Given the description of an element on the screen output the (x, y) to click on. 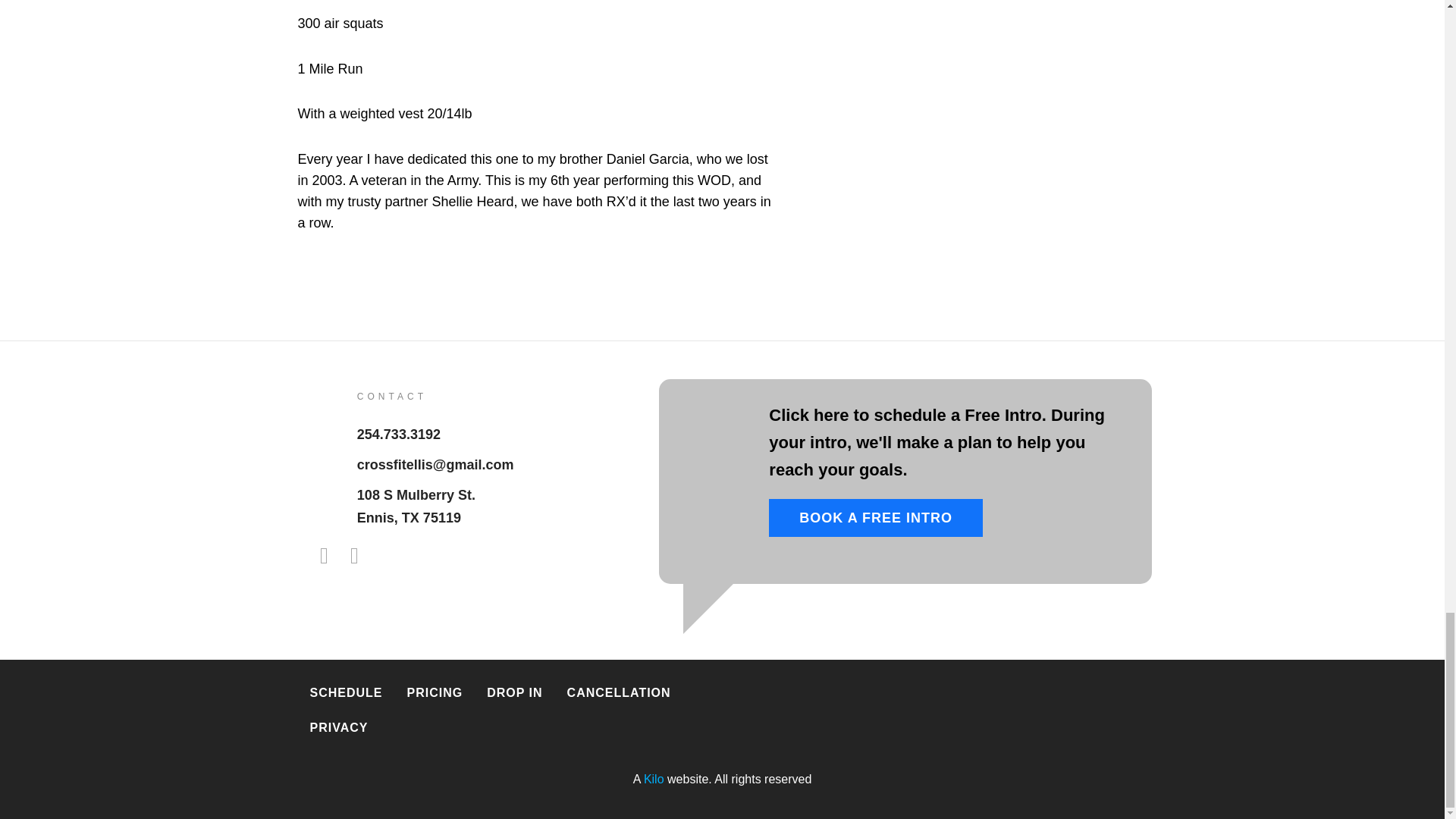
254.733.3192 (398, 434)
BOOK A FREE INTRO (875, 517)
SCHEDULE (345, 692)
DROP IN (514, 692)
Facebook-f (323, 555)
Instagram (353, 555)
PRICING (416, 506)
PRIVACY (435, 692)
CANCELLATION (338, 727)
